Given the description of an element on the screen output the (x, y) to click on. 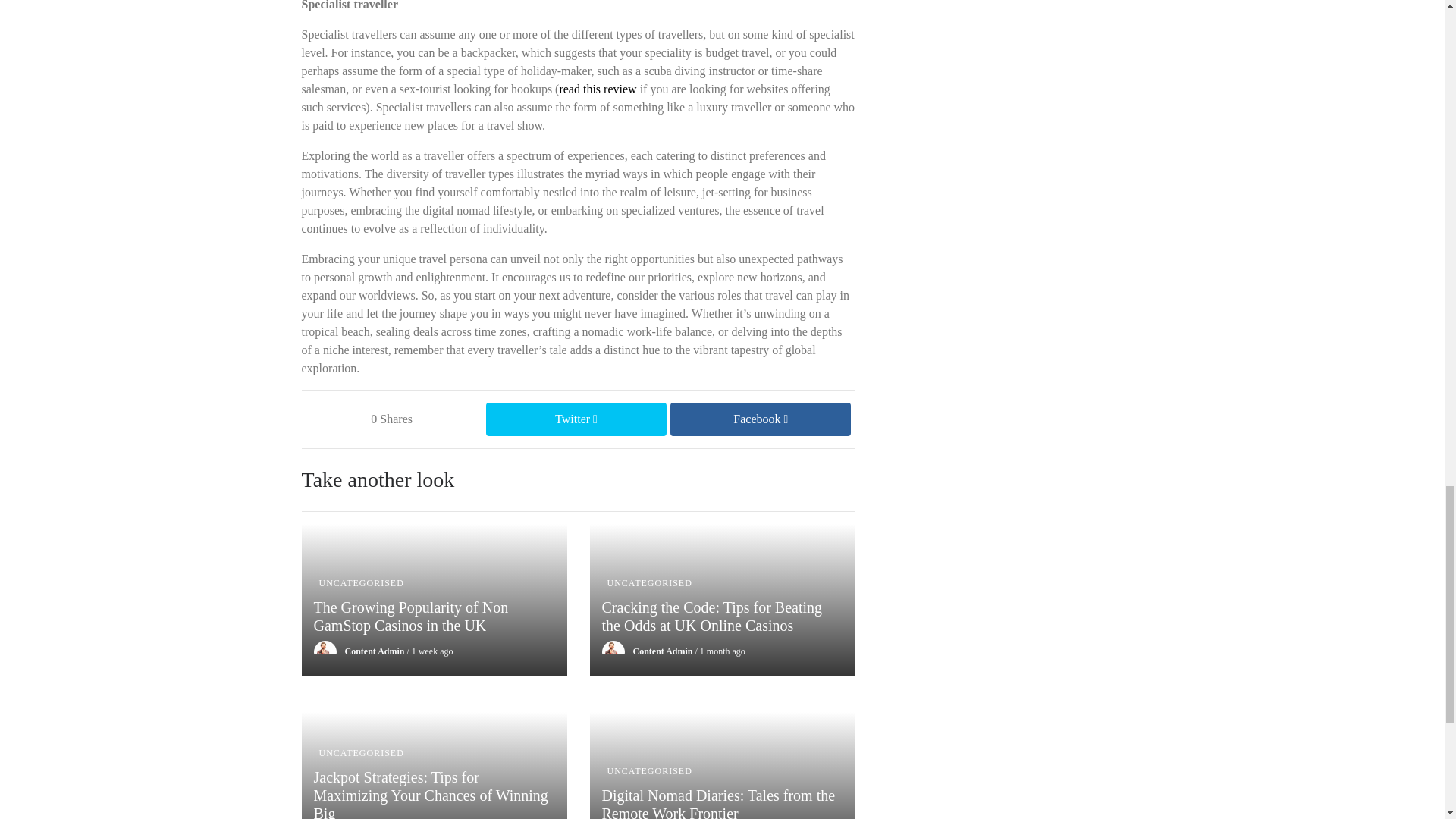
UNCATEGORISED (649, 770)
UNCATEGORISED (649, 583)
Digital Nomad Diaries: Tales from the Remote Work Frontier (722, 802)
read this review (597, 88)
UNCATEGORISED (360, 752)
UNCATEGORISED (360, 583)
The Growing Popularity of Non GamStop Casinos in the UK (434, 627)
Digital Nomad Diaries: Tales from the Remote Work Frontier (722, 802)
